Given the description of an element on the screen output the (x, y) to click on. 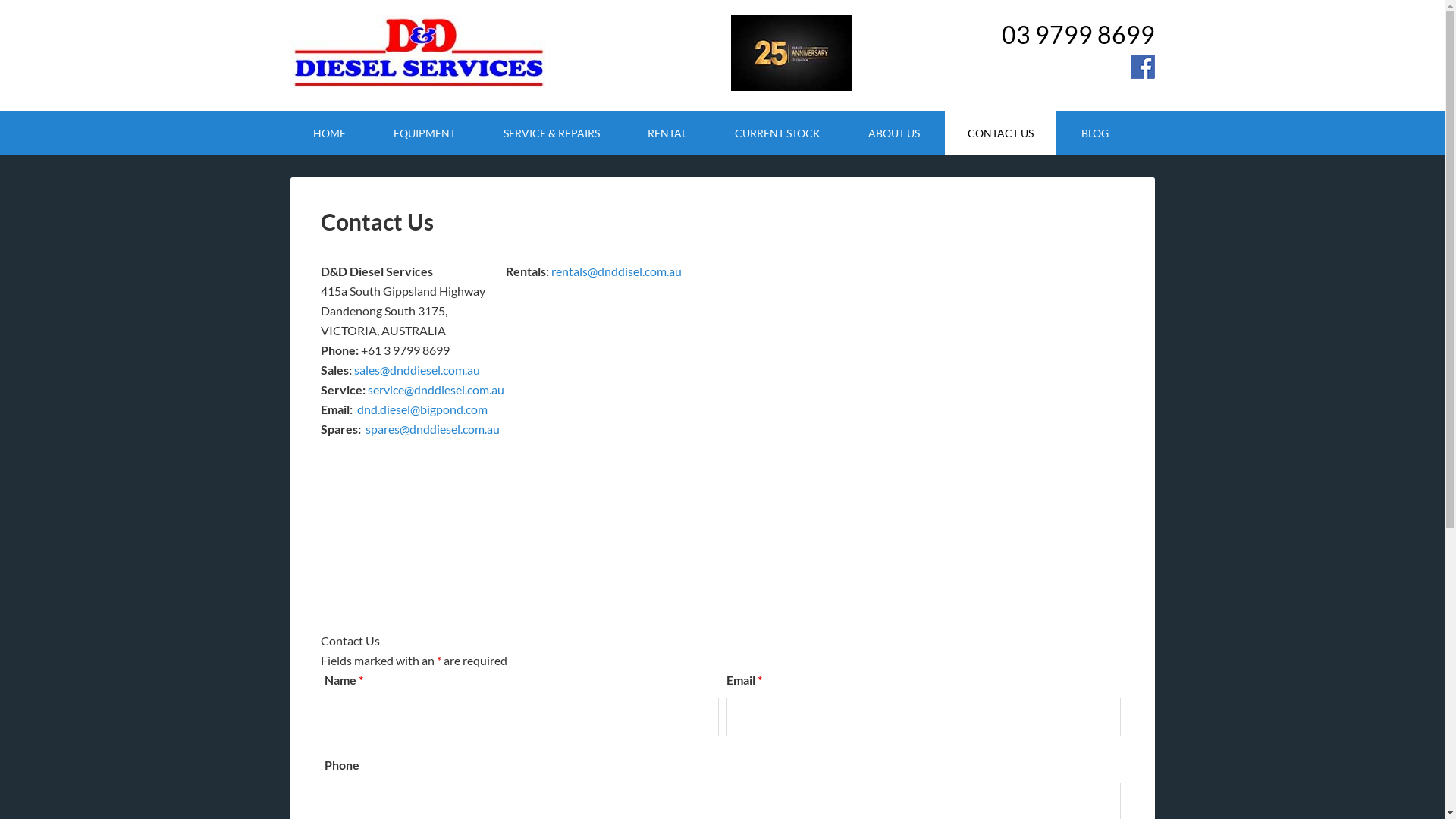
BLOG Element type: text (1094, 132)
CONTACT US Element type: text (1000, 132)
RENTAL Element type: text (666, 132)
SERVICE & REPAIRS Element type: text (551, 132)
ABOUT US Element type: text (892, 132)
sales@dnddiesel.com.au Element type: text (416, 369)
CURRENT STOCK Element type: text (776, 132)
spares@dnddiesel.com.au Element type: text (432, 428)
D&D DIESEL SERVICES Element type: text (418, 53)
03 9799 8699 Element type: text (1077, 34)
HOME Element type: text (328, 132)
EQUIPMENT Element type: text (423, 132)
service@dnddiesel.com.au Element type: text (435, 389)
rentals@dnddisel.com.au Element type: text (616, 270)
dnd.diesel@bigpond.com Element type: text (421, 408)
